Given the description of an element on the screen output the (x, y) to click on. 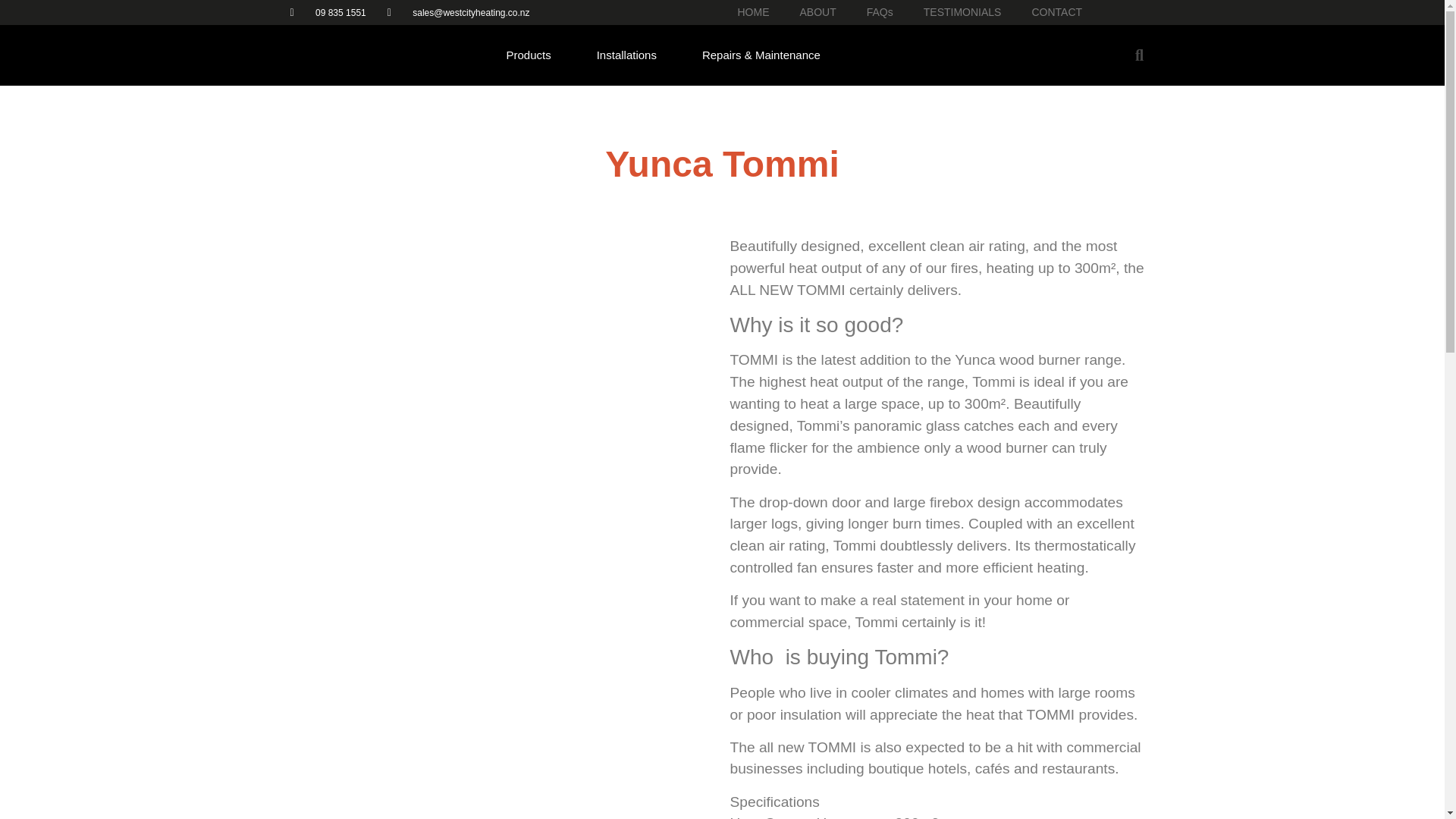
Products (528, 55)
09 835 1551 (327, 12)
FAQs (879, 12)
Installations (626, 55)
TESTIMONIALS (962, 12)
HOME (753, 12)
ABOUT (817, 12)
CONTACT (1056, 12)
